Given the description of an element on the screen output the (x, y) to click on. 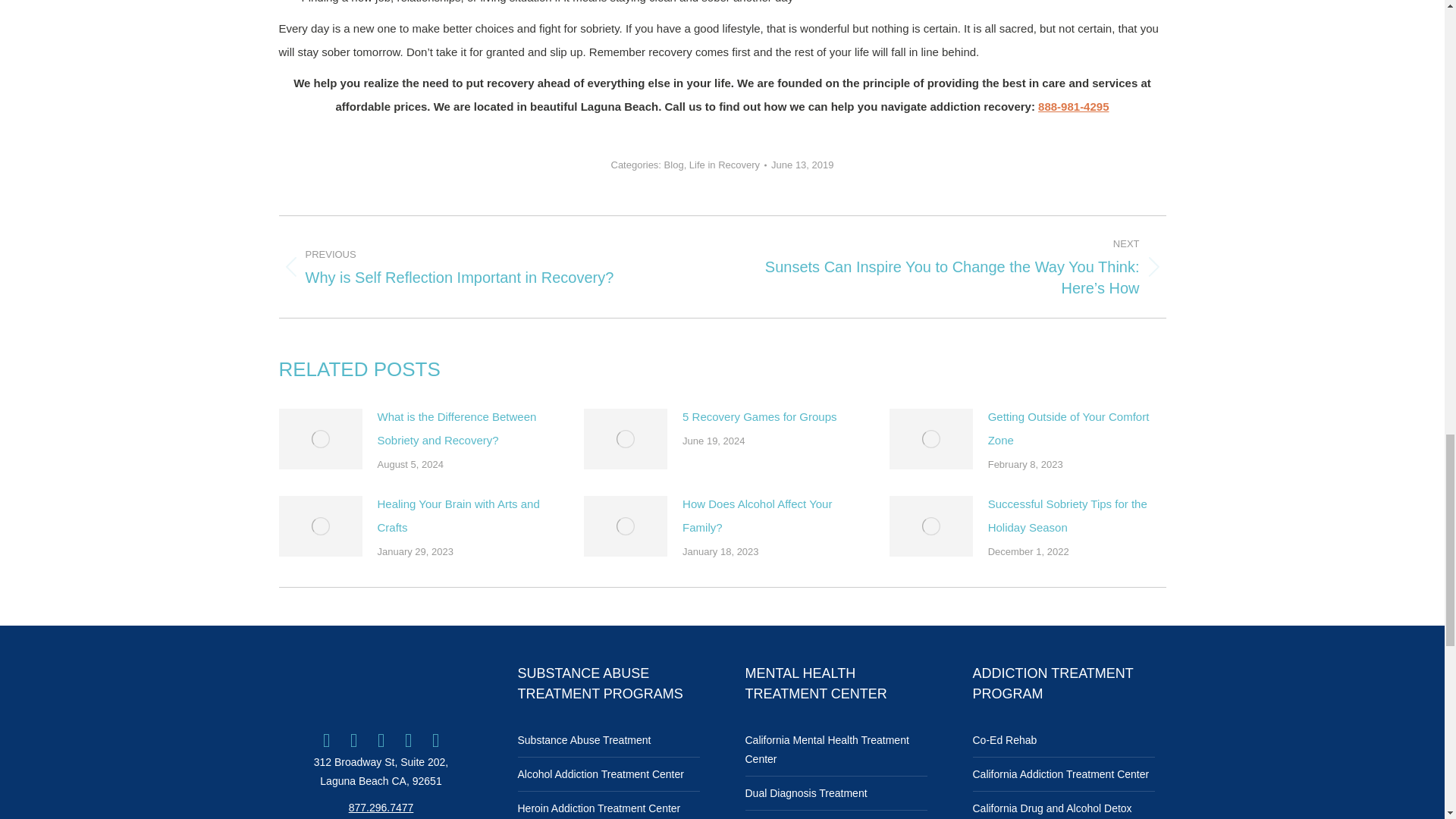
Pinterest (435, 740)
Twitter (353, 740)
YouTube (408, 740)
Ocean-Recovery-Logo-450 (380, 683)
Instagram (381, 740)
12:00 am (801, 164)
Facebook (326, 740)
